Given the description of an element on the screen output the (x, y) to click on. 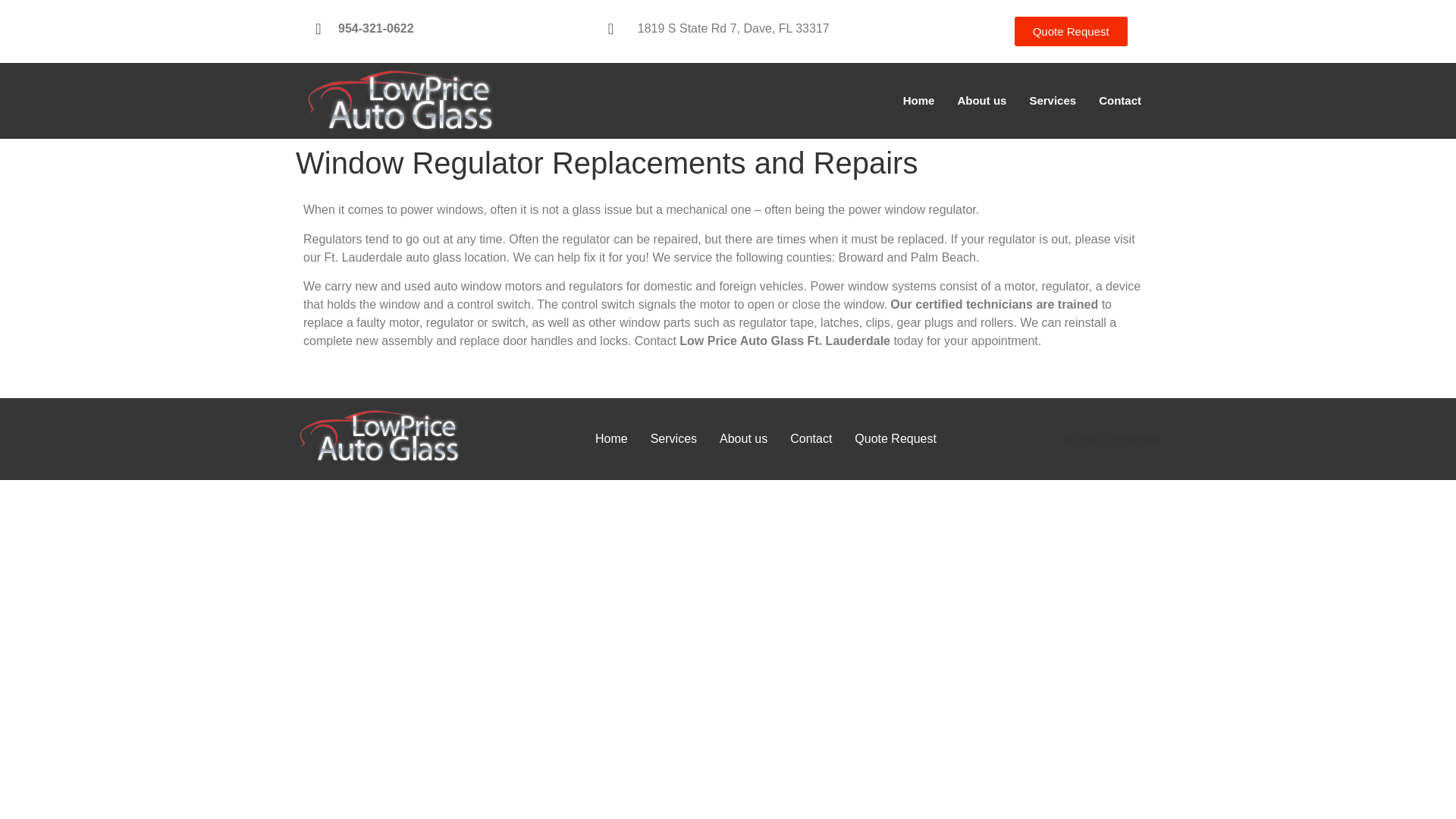
Contact (810, 438)
Services (673, 438)
Home (918, 100)
Home (611, 438)
About us (980, 100)
Contact (1120, 100)
Quote Request (895, 438)
Services (1052, 100)
About us (742, 438)
Quote Request (1070, 30)
